Given the description of an element on the screen output the (x, y) to click on. 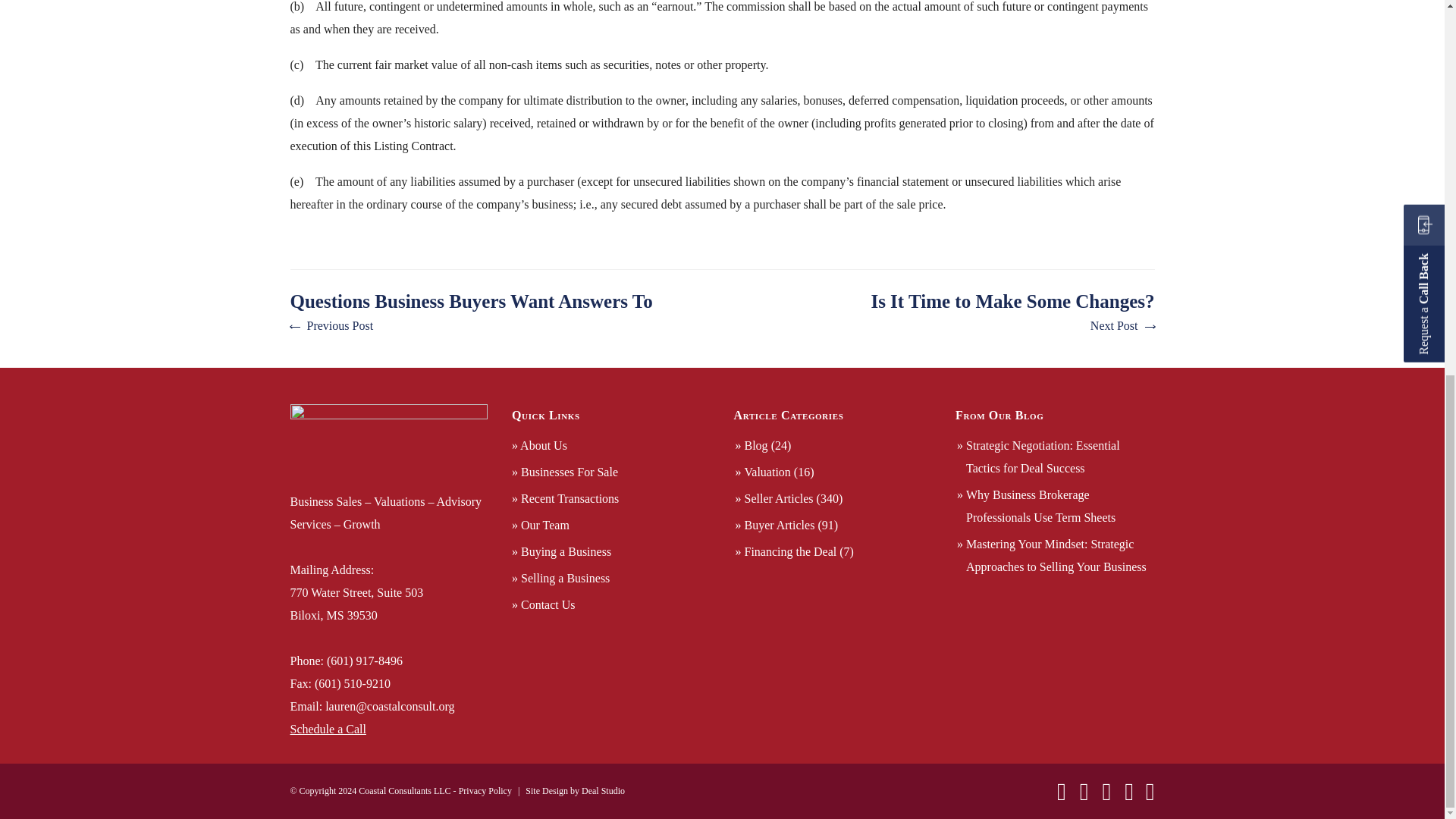
Is It Time to Make Some Changes? (1012, 313)
View all posts filed under Buyer Articles (779, 524)
View all posts filed under Valuation (767, 472)
View all posts filed under Financing the Deal (790, 551)
View all posts filed under Blog (756, 445)
View all posts filed under Seller Articles (778, 498)
Questions Business Buyers Want Answers To (470, 313)
